Given the description of an element on the screen output the (x, y) to click on. 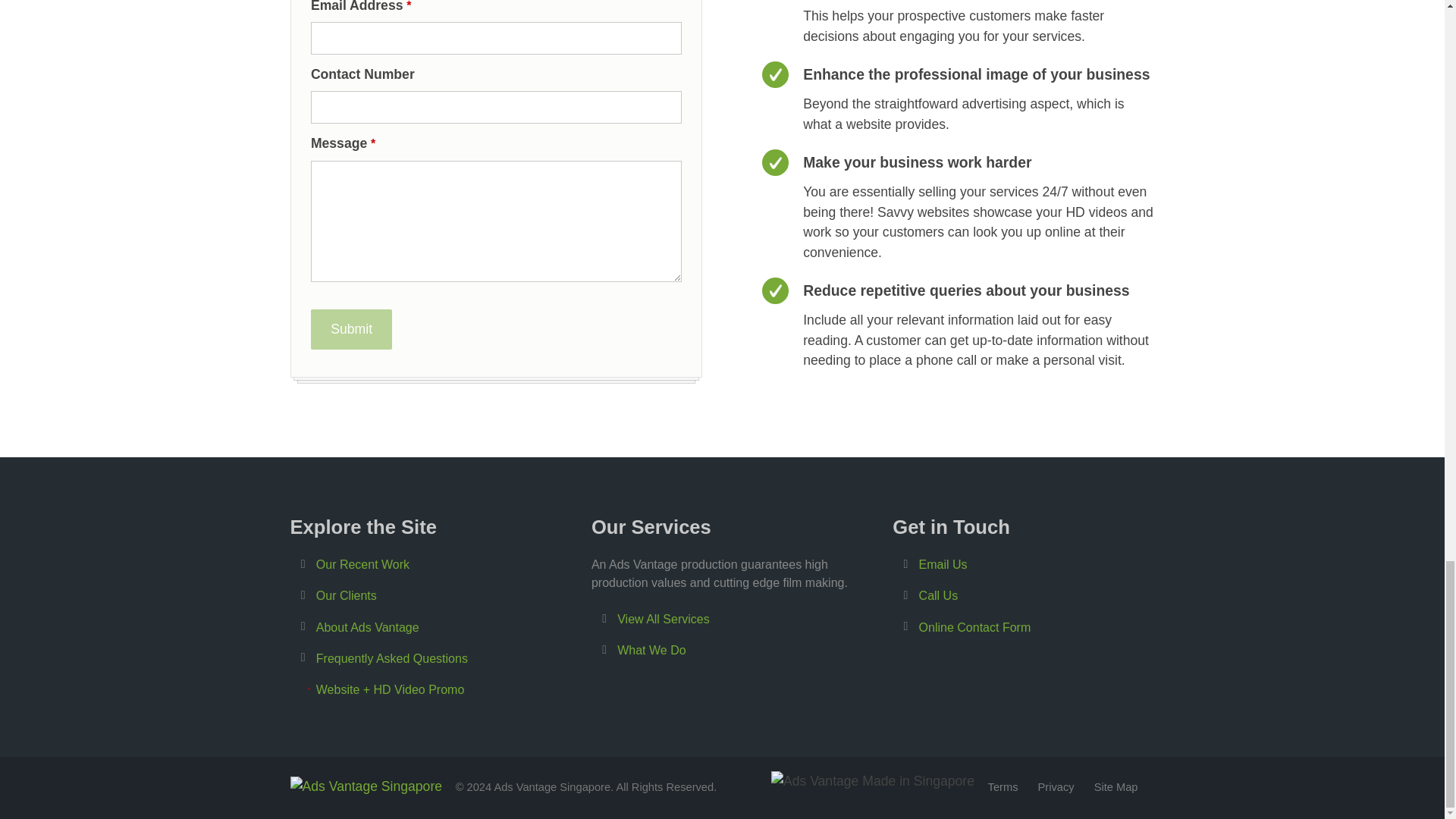
Online Contact Form (974, 626)
Terms (1002, 787)
Submit (352, 329)
What We Do (651, 649)
Email Us (943, 563)
About Ads Vantage (367, 626)
Frequently Asked Questions (391, 658)
Our Clients (346, 594)
Call Us (938, 594)
Our Recent Work (362, 563)
View All Services (663, 618)
Site Map (1116, 787)
Privacy (1056, 787)
